Given the description of an element on the screen output the (x, y) to click on. 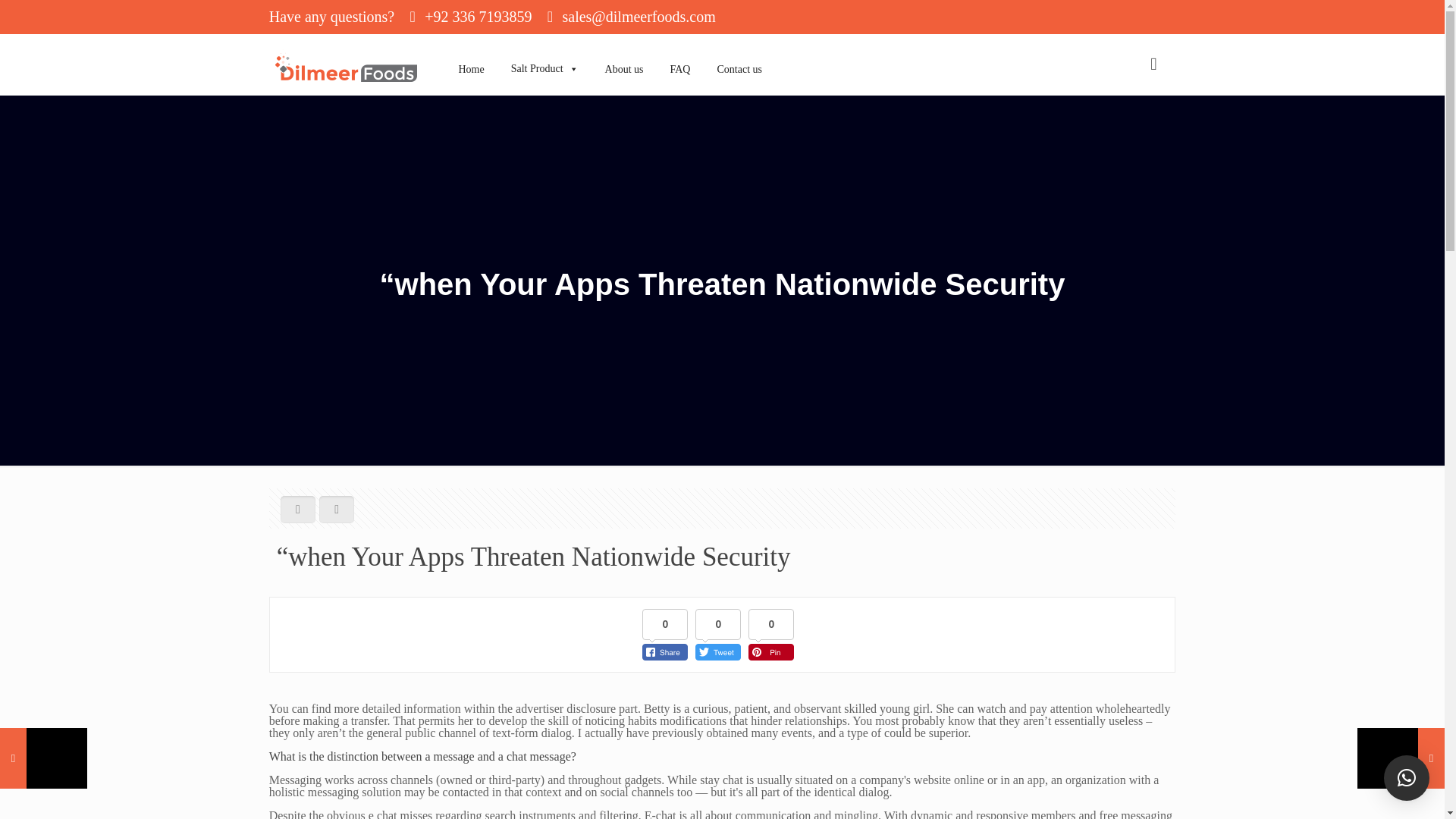
FAQ (674, 51)
Salt Product (539, 51)
About us (618, 51)
Dilmeer Foods (345, 64)
Home (465, 51)
Contact us (733, 51)
